Given the description of an element on the screen output the (x, y) to click on. 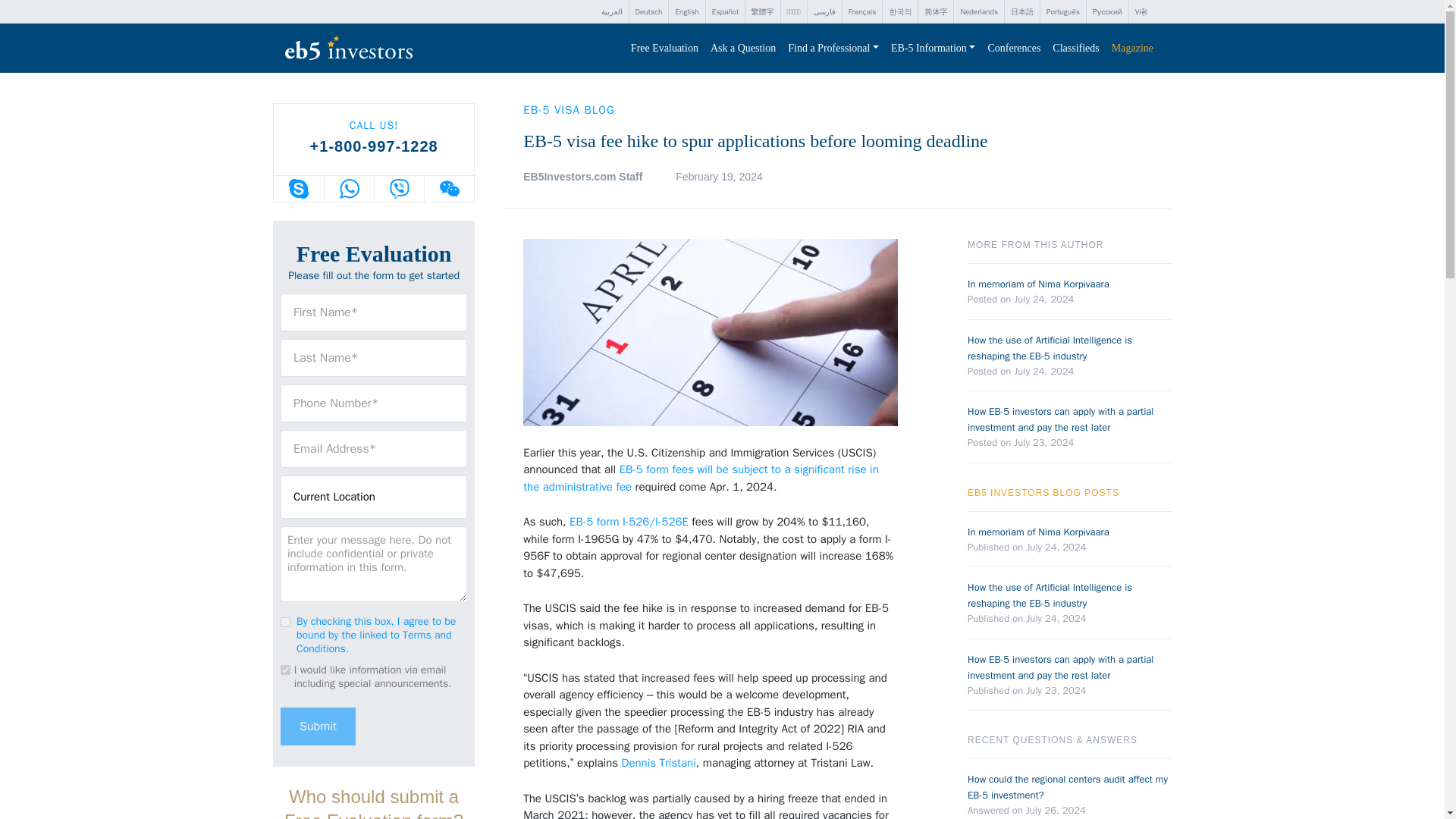
Submit (318, 725)
Deutsch (648, 11)
English (686, 11)
EB-5 Information (933, 48)
Find a Professional (833, 48)
Find a Professional (833, 48)
Nederlands (978, 11)
1 (285, 622)
Free Evaluation (664, 48)
Ask a Question (742, 48)
Ask a Question (742, 48)
Free Evaluation (664, 48)
